Given the description of an element on the screen output the (x, y) to click on. 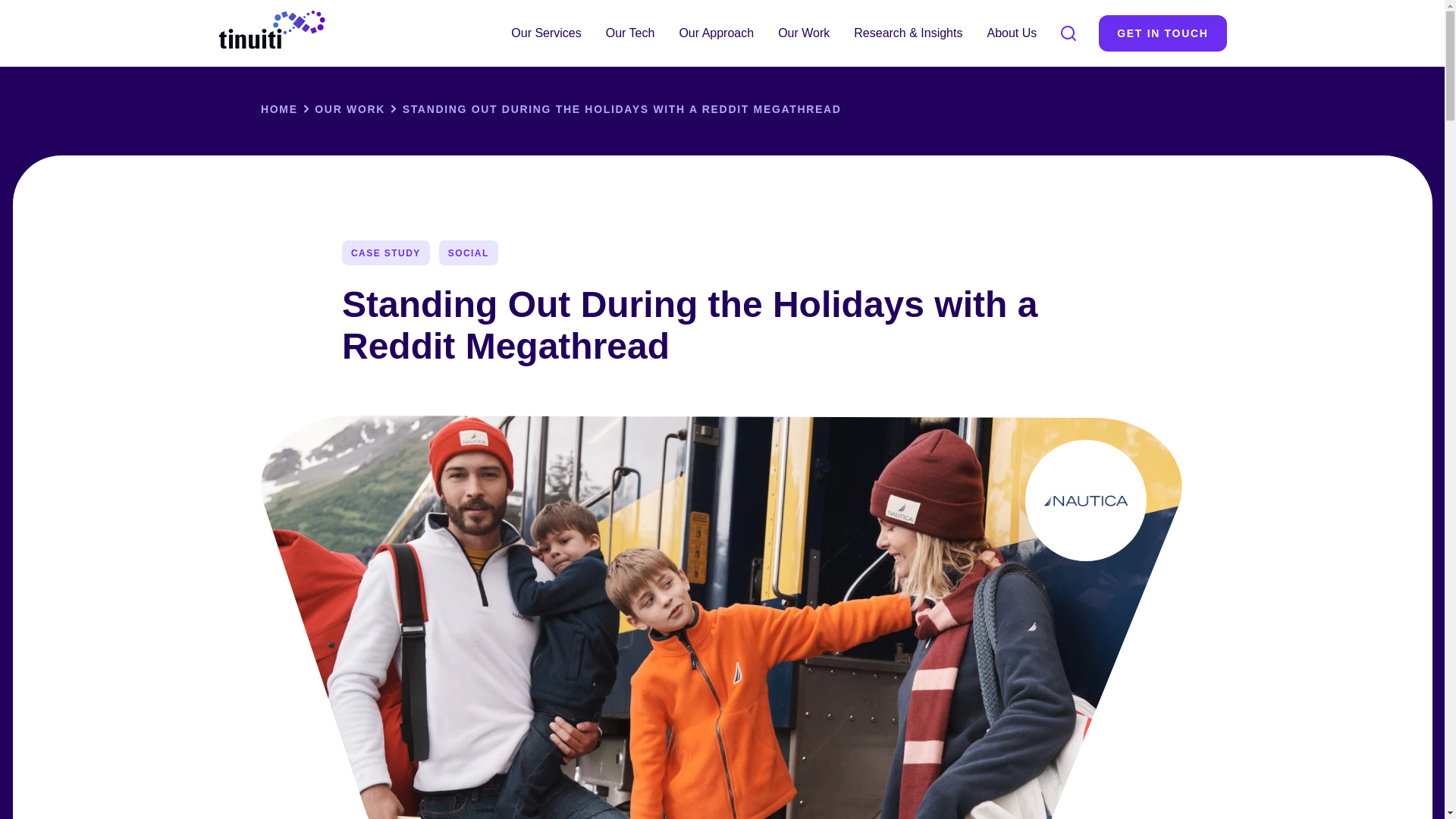
Our Tech (630, 33)
Our Services (545, 33)
Our Approach (715, 33)
Our Work (803, 33)
